Given the description of an element on the screen output the (x, y) to click on. 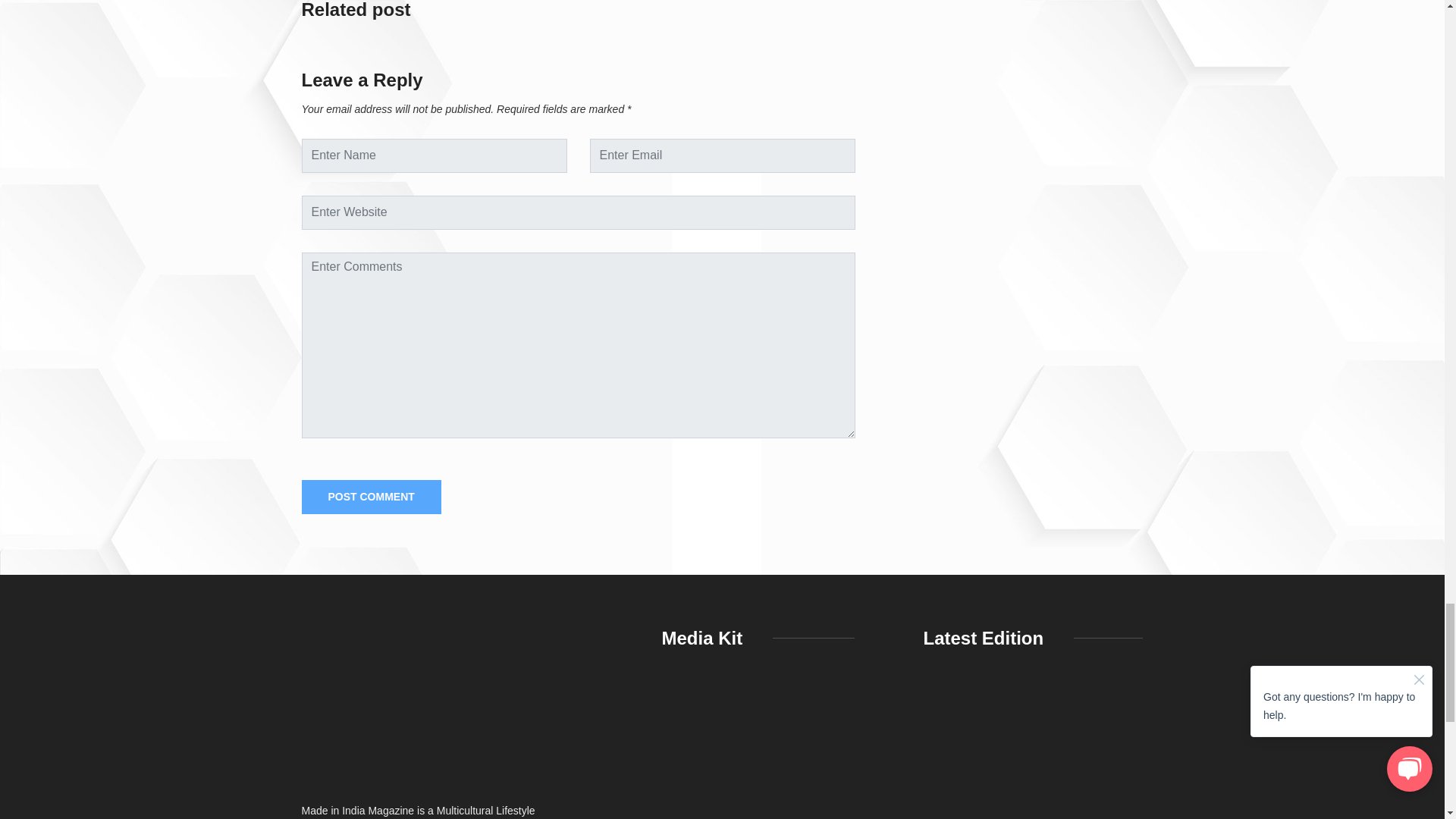
Post Comment (371, 496)
Latest Edition (1032, 753)
Media Kit (757, 753)
